Given the description of an element on the screen output the (x, y) to click on. 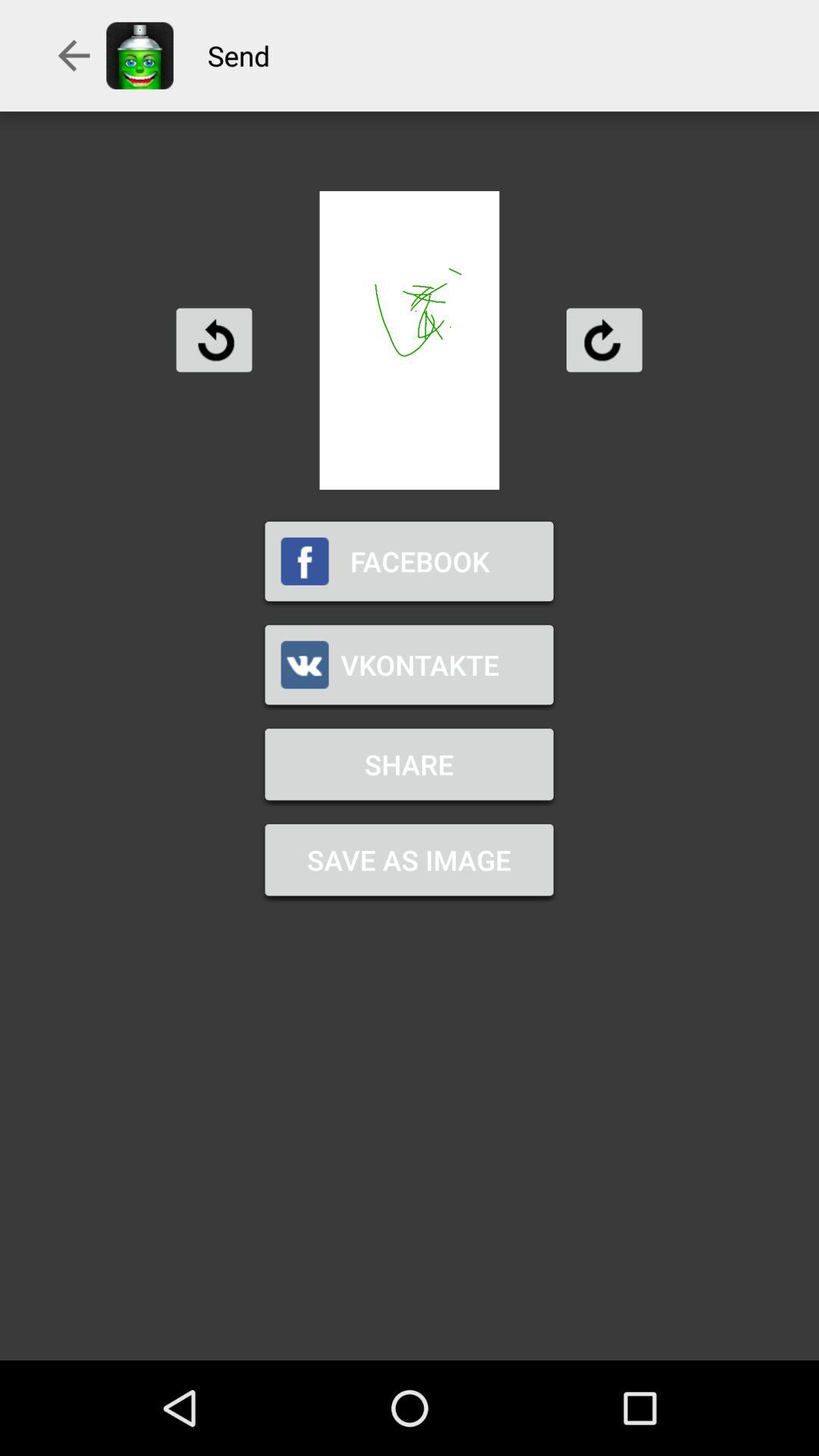
go ahead (604, 339)
